Given the description of an element on the screen output the (x, y) to click on. 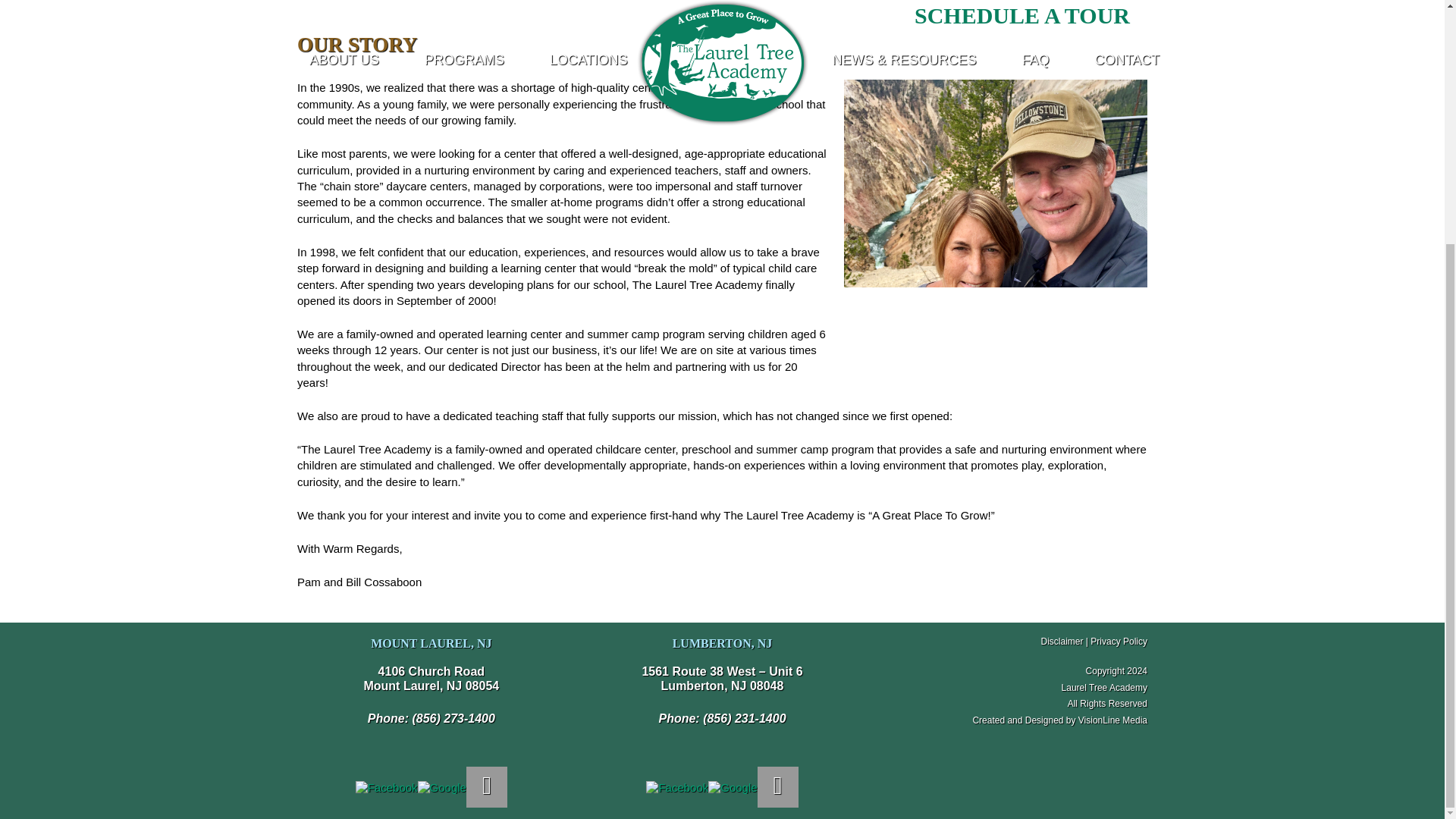
Privacy Policy (1118, 641)
Google (732, 786)
Facebook (676, 786)
Google (441, 787)
Facebook (676, 787)
Google (732, 787)
Facebook (386, 787)
Instagram (485, 786)
Instagram (777, 786)
Facebook (386, 786)
Google (441, 786)
VisionLine Media (1112, 719)
Disclaimer (1062, 641)
